Given the description of an element on the screen output the (x, y) to click on. 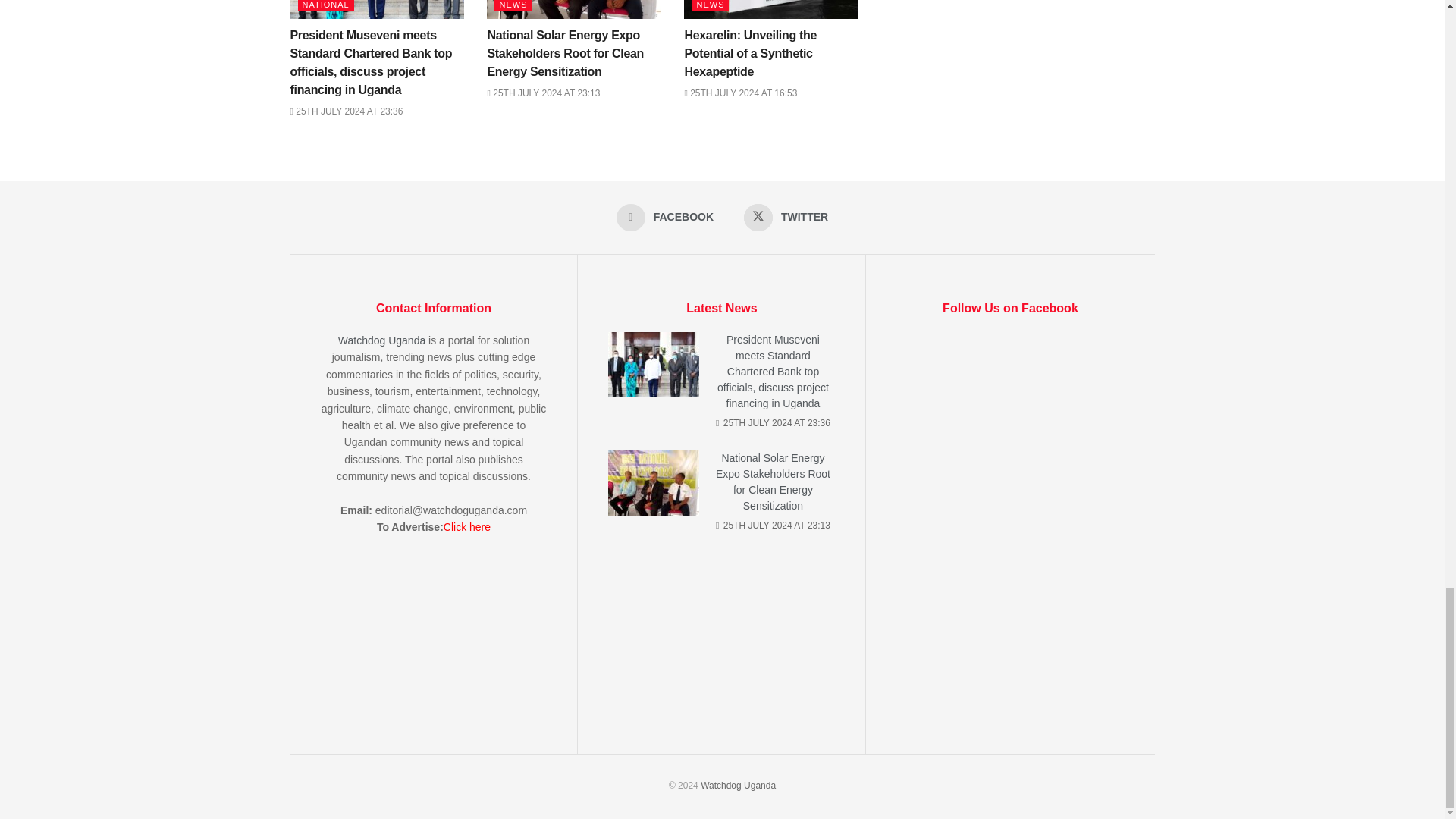
Latest News in Uganda (738, 785)
